Given the description of an element on the screen output the (x, y) to click on. 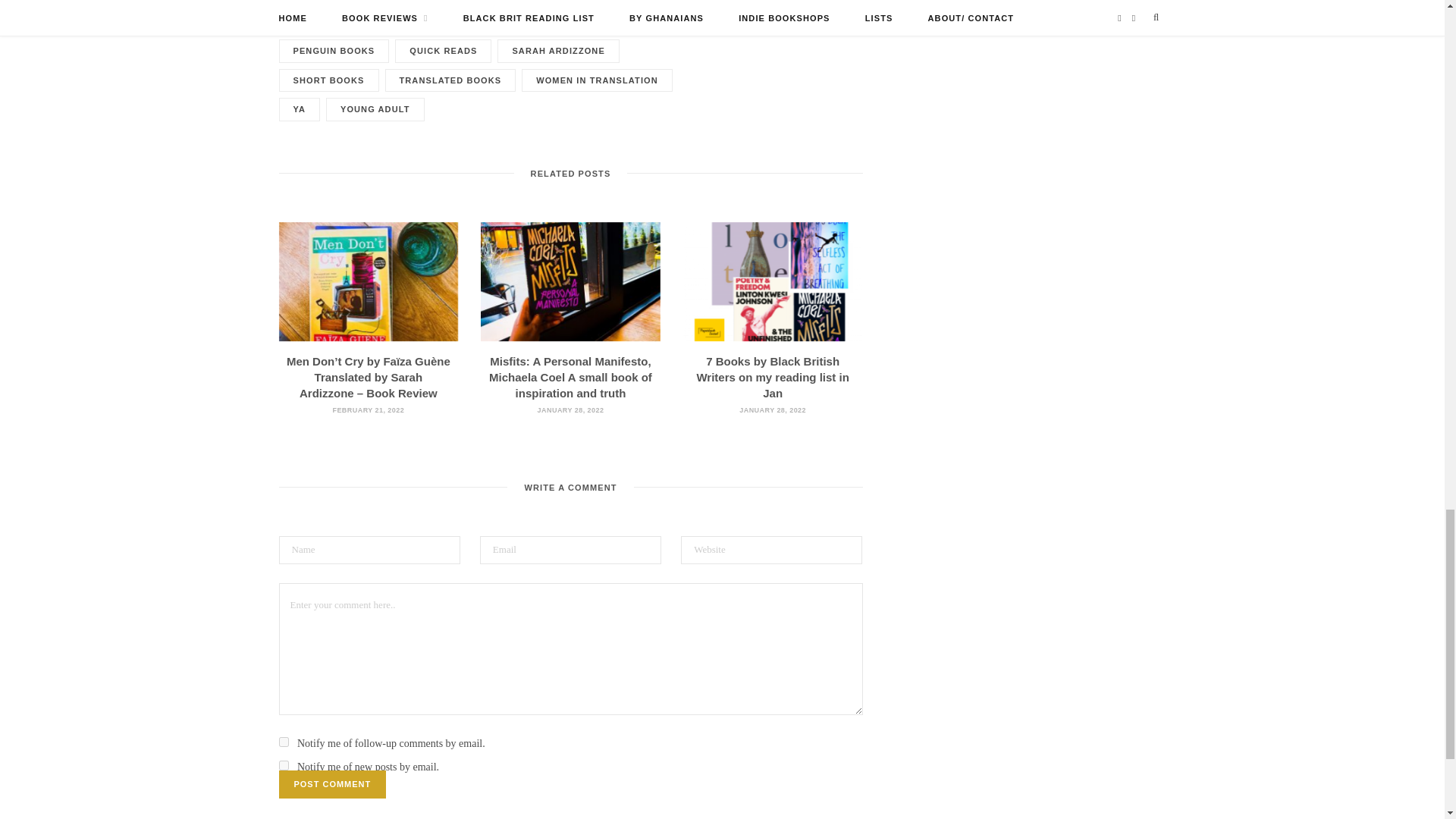
PENGUIN BOOKS (334, 51)
QUICK READS (443, 51)
FRENCH FICTION (544, 22)
WOMEN IN TRANSLATION (596, 80)
YOUNG ADULT (375, 109)
Post Comment (333, 784)
Share on Pinterest (851, 2)
YA (299, 109)
SHORT BOOKS (328, 80)
